Given the description of an element on the screen output the (x, y) to click on. 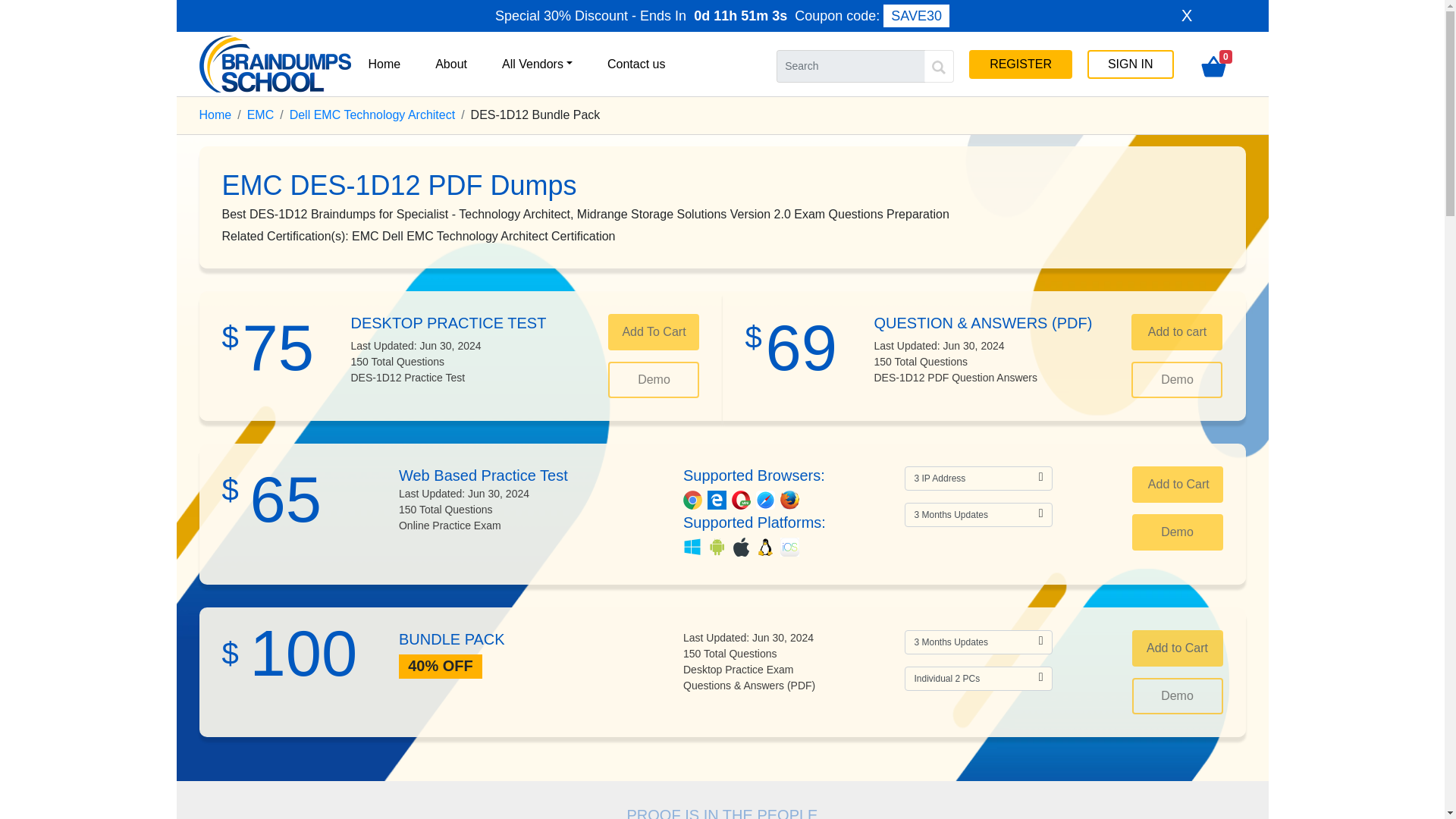
EMC (261, 114)
Home (214, 114)
REGISTER (1020, 63)
Contact us (636, 63)
About (451, 63)
Add To Cart (653, 331)
All Vendors (537, 63)
Dell EMC Technology Architect (371, 114)
Demo (653, 379)
Home (384, 63)
